Given the description of an element on the screen output the (x, y) to click on. 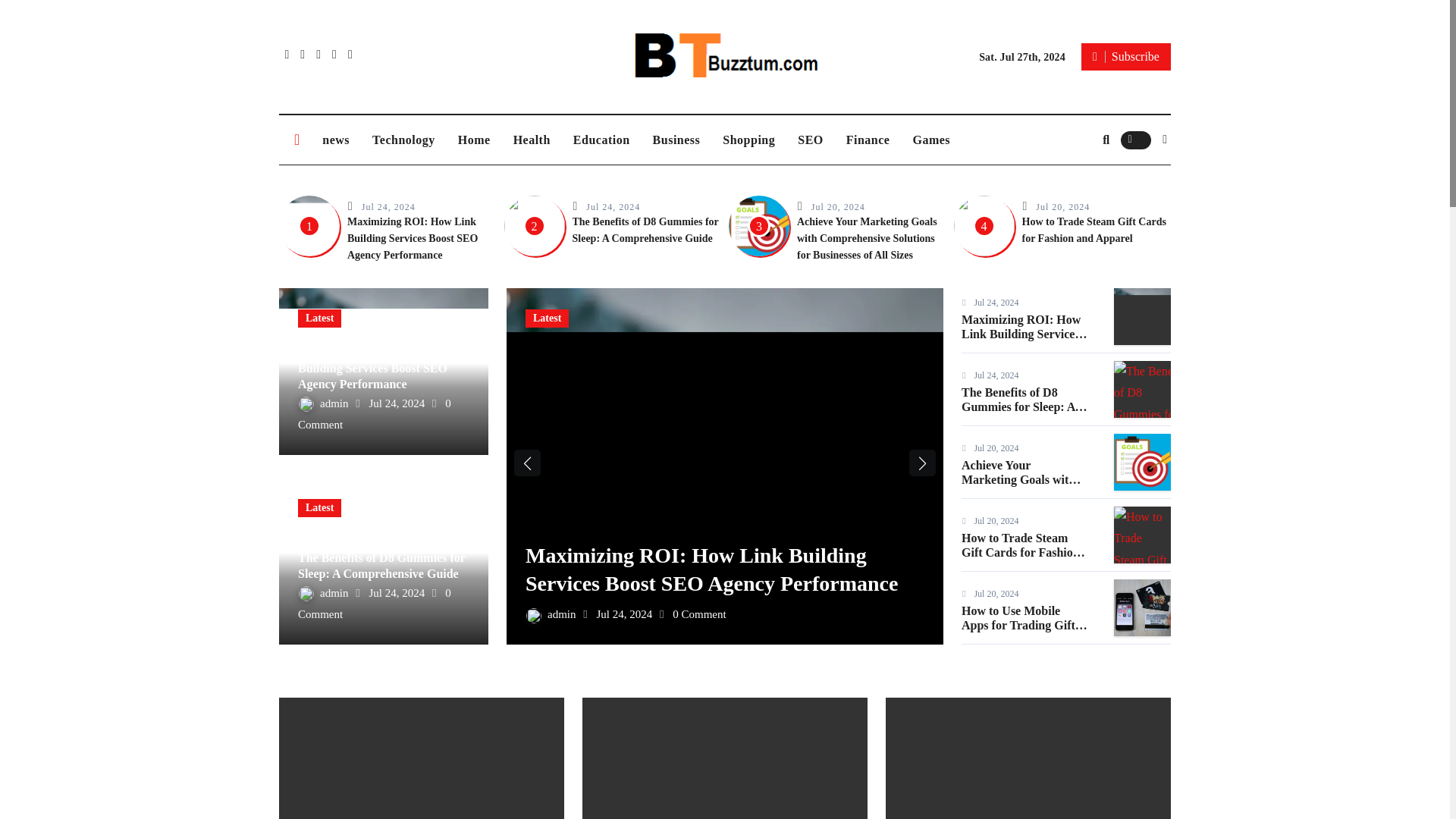
Latest (319, 318)
Shopping (748, 139)
Games (930, 139)
Technology (403, 139)
news (336, 139)
Education (602, 139)
Health (532, 139)
Home (474, 139)
Subscribe (1125, 56)
The Benefits of D8 Gummies for Sleep: A Comprehensive Guide (644, 230)
Jul 24, 2024 (613, 206)
Jul 24, 2024 (387, 206)
Jul 20, 2024 (837, 206)
How to Trade Steam Gift Cards for Fashion and Apparel (1094, 230)
